Given the description of an element on the screen output the (x, y) to click on. 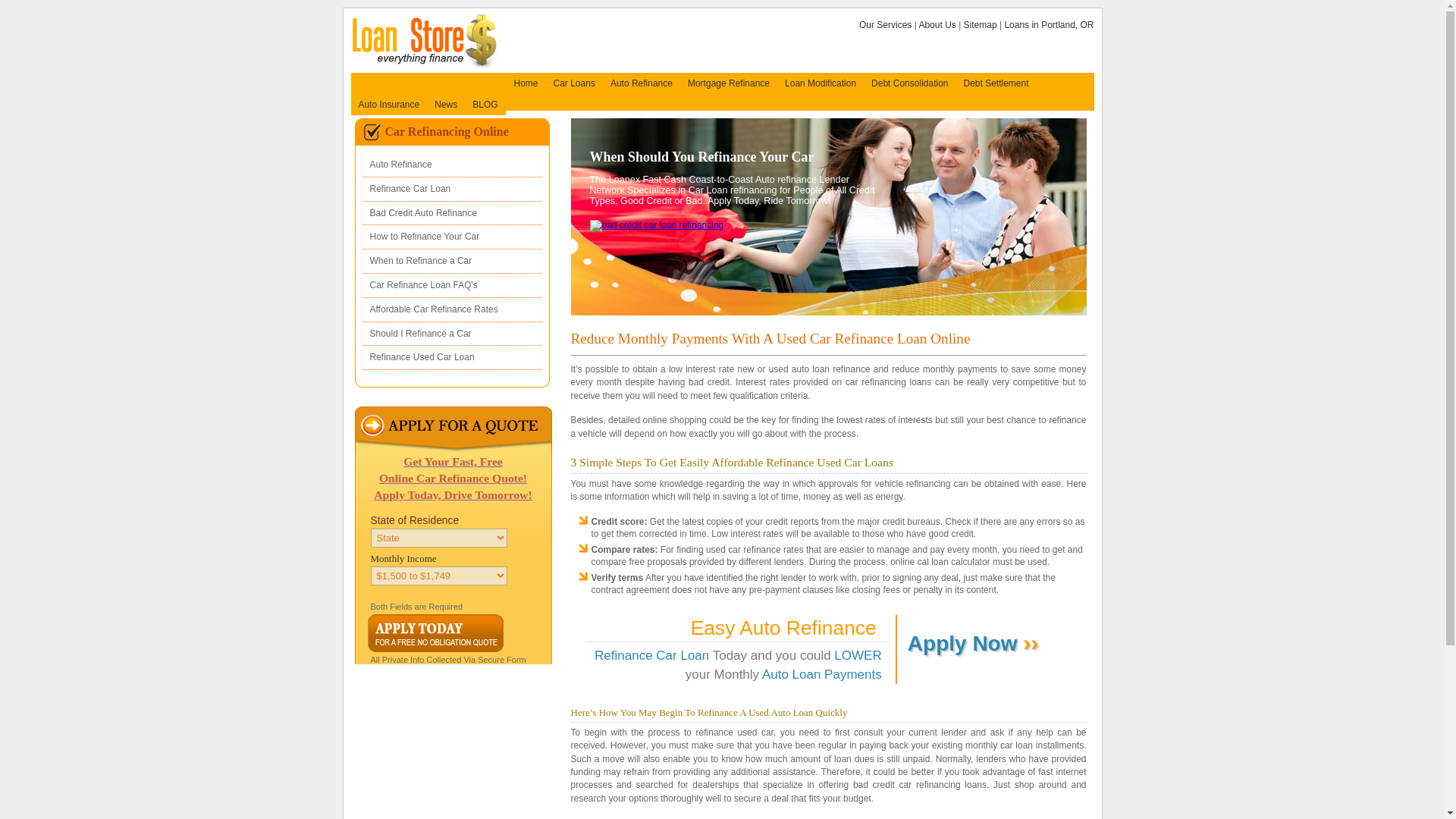
Auto Refinance (640, 83)
Debt Settlement (995, 83)
How to Refinance Your Car (451, 237)
Bad Credit Auto Refinance (451, 213)
Car Loans (574, 83)
Mortgage Refinance (728, 83)
Affordable Car Refinance Rates (451, 310)
When to Refinance a Car (451, 261)
Debt Consolidation (909, 83)
Auto Refinance (451, 165)
